Given the description of an element on the screen output the (x, y) to click on. 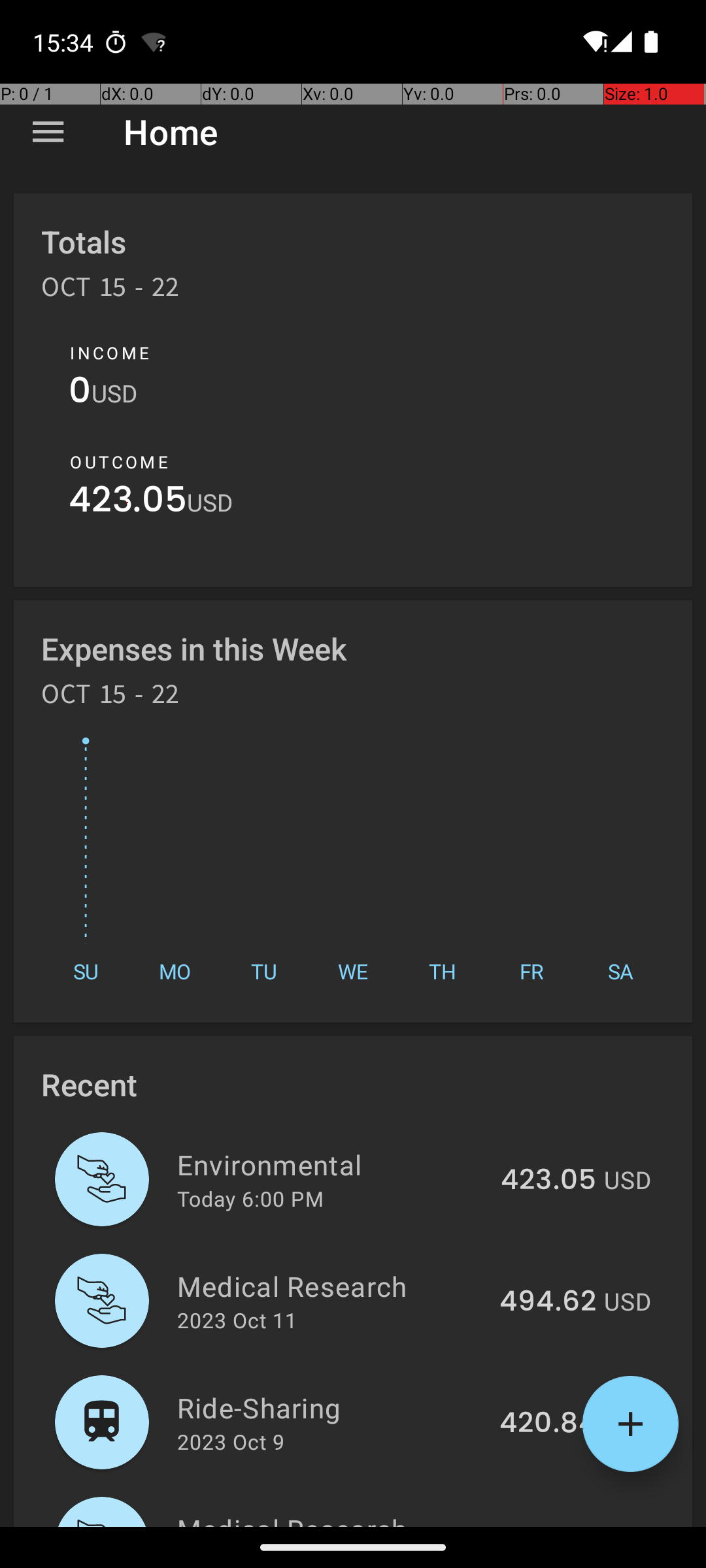
423.05 Element type: android.widget.TextView (127, 502)
Environmental Element type: android.widget.TextView (331, 1164)
Today 6:00 PM Element type: android.widget.TextView (250, 1198)
Medical Research Element type: android.widget.TextView (330, 1285)
2023 Oct 11 Element type: android.widget.TextView (236, 1320)
494.62 Element type: android.widget.TextView (547, 1301)
Ride-Sharing Element type: android.widget.TextView (330, 1407)
2023 Oct 9 Element type: android.widget.TextView (230, 1441)
420.84 Element type: android.widget.TextView (547, 1423)
270.43 Element type: android.widget.TextView (549, 1524)
Android System notification: AndroidWifi has limited connectivity Element type: android.widget.ImageView (153, 41)
Wifi signal full.,No internet Element type: android.widget.FrameLayout (593, 41)
